Given the description of an element on the screen output the (x, y) to click on. 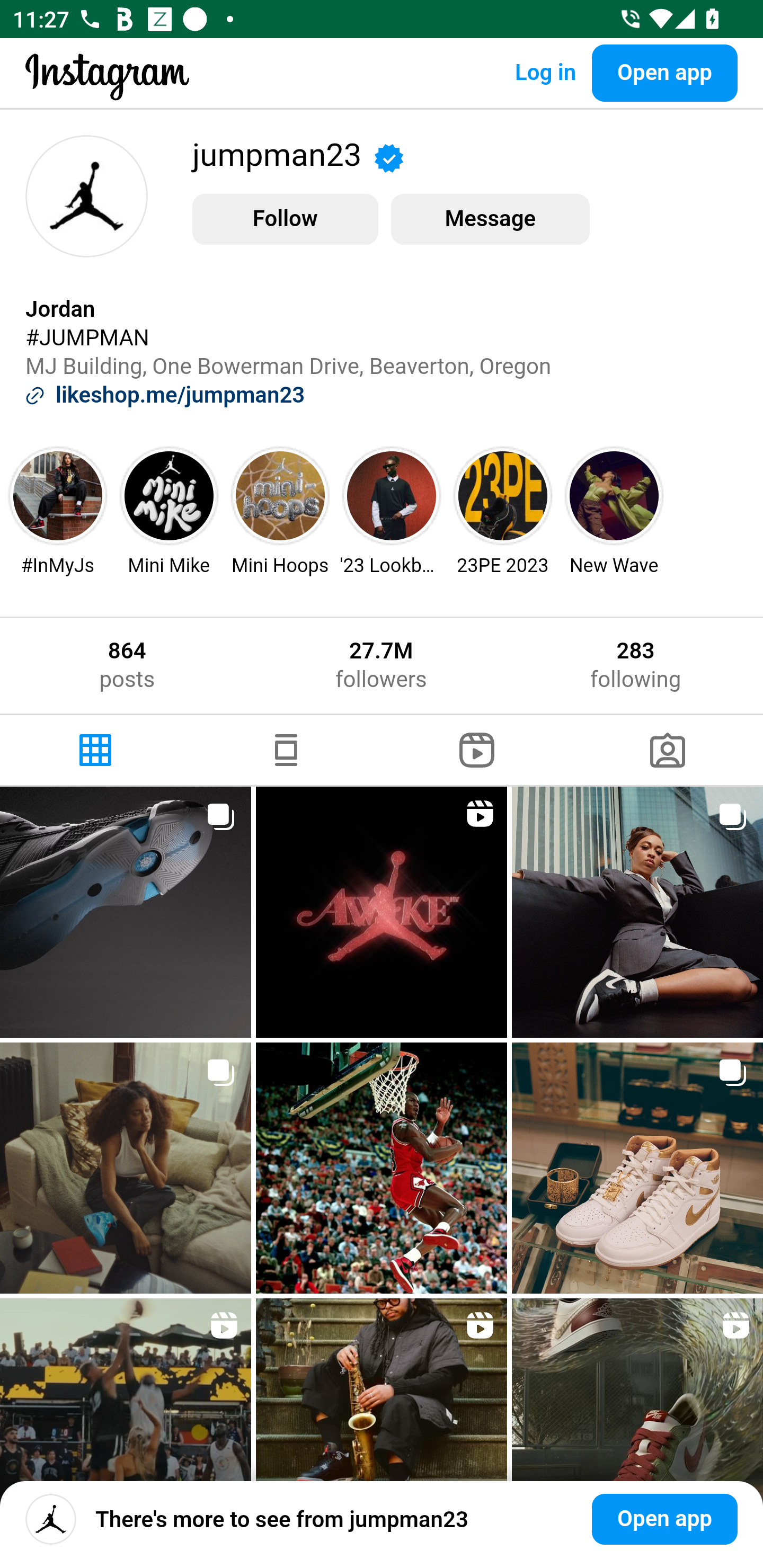
Log in (544, 72)
Open app (664, 72)
Instagram Instagram Instagram Instagram (107, 89)
jumpman23's profile picture (86, 195)
Follow (285, 219)
Message (489, 219)
likeshop.me/jumpman23 (180, 395)
#InMyJs's profile picture (57, 495)
Mini Mike's profile picture (168, 495)
Mini Hoops's profile picture (280, 495)
'23 Lookbook's profile picture (391, 495)
23PE 2023's profile picture (502, 495)
New Wave's profile picture (614, 495)
864 posts (126, 665)
27.7M followers (380, 665)
283 following (635, 665)
Posts (95, 750)
Feed (285, 750)
Reels (476, 750)
Tagged (667, 750)
jumpman23's profile picture (50, 1519)
Open app (664, 1519)
